Given the description of an element on the screen output the (x, y) to click on. 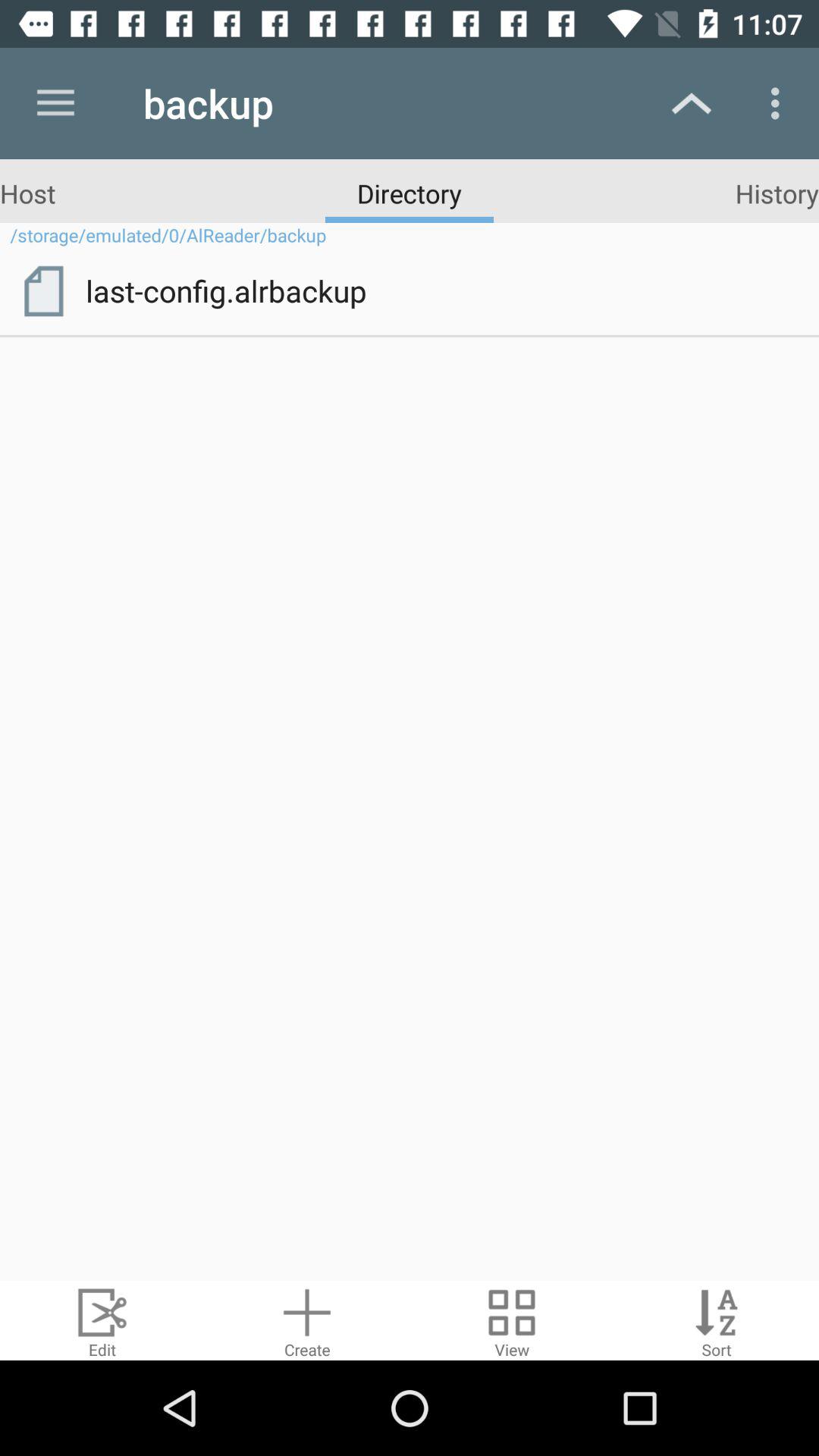
sort by alphabet (716, 1320)
